Given the description of an element on the screen output the (x, y) to click on. 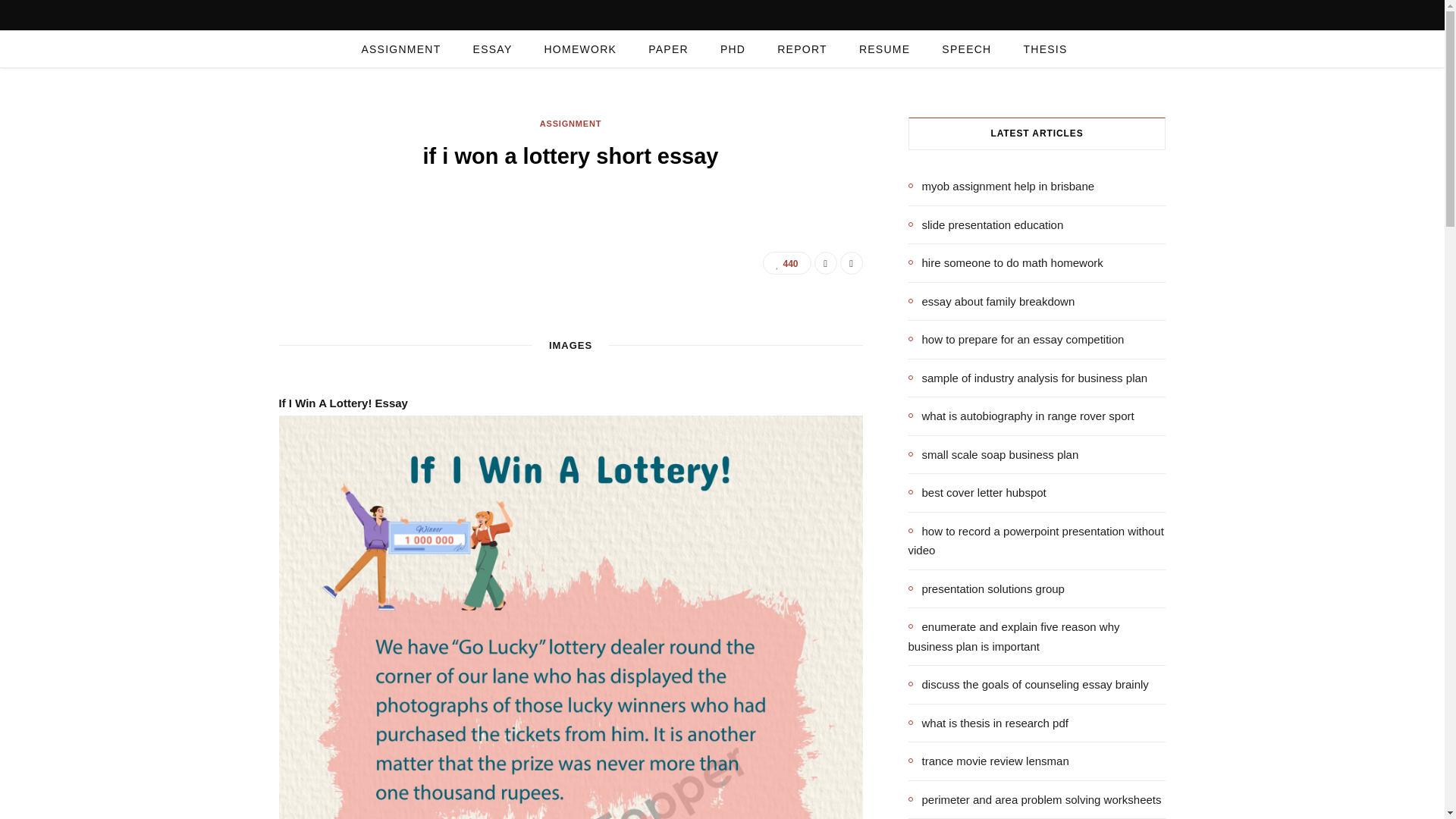
presentation solutions group (986, 588)
HOMEWORK (579, 48)
sample of industry analysis for business plan (1028, 378)
what is thesis in research pdf (988, 722)
trance movie review lensman (988, 761)
RESUME (884, 48)
Share on Twitter (851, 262)
PAPER (667, 48)
